Given the description of an element on the screen output the (x, y) to click on. 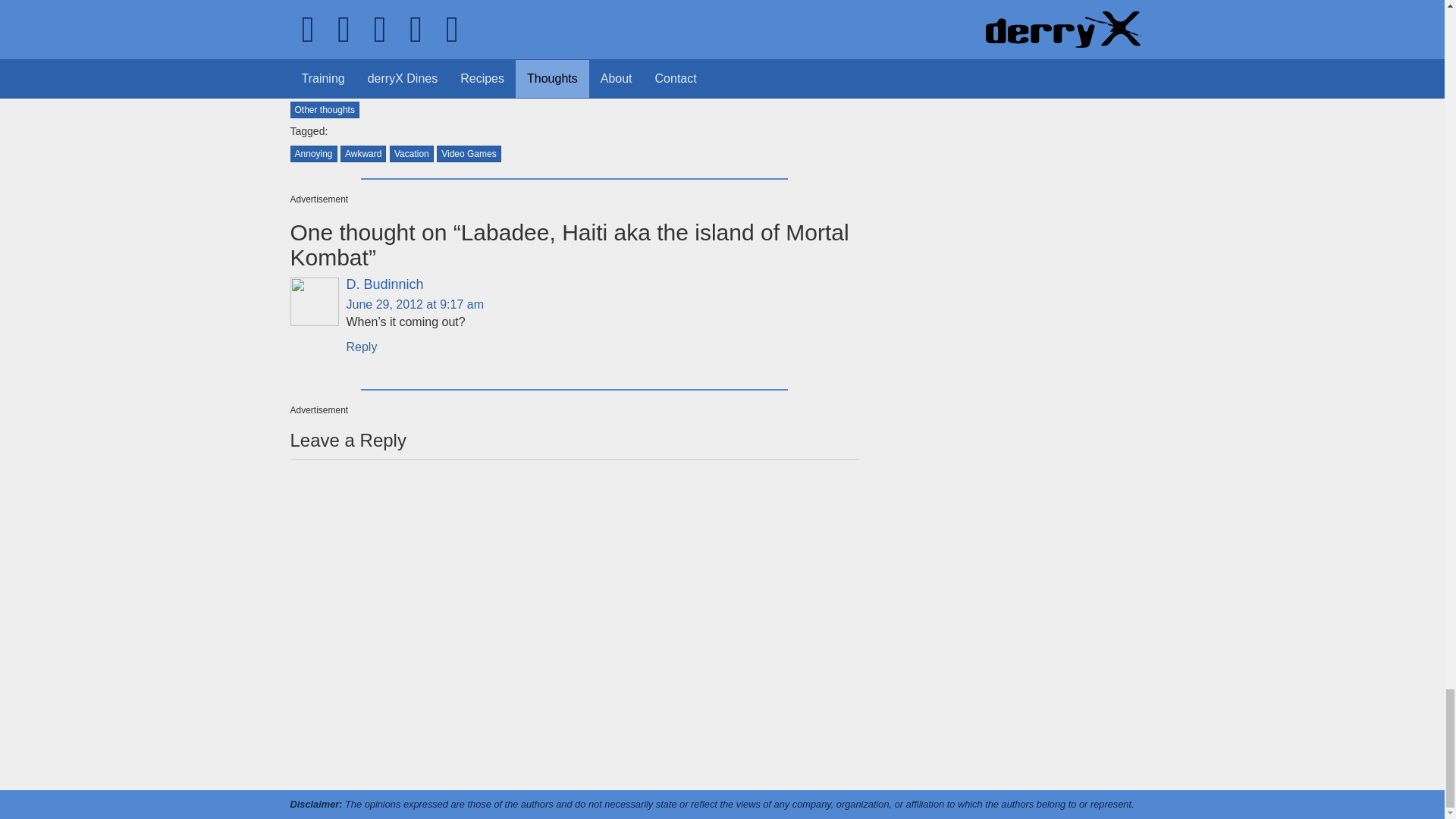
Other thoughts (323, 109)
Tweet (312, 20)
Reddit (384, 20)
Annoying (312, 153)
More (534, 20)
Share on Tumblr (461, 20)
Awkward (362, 153)
